Given the description of an element on the screen output the (x, y) to click on. 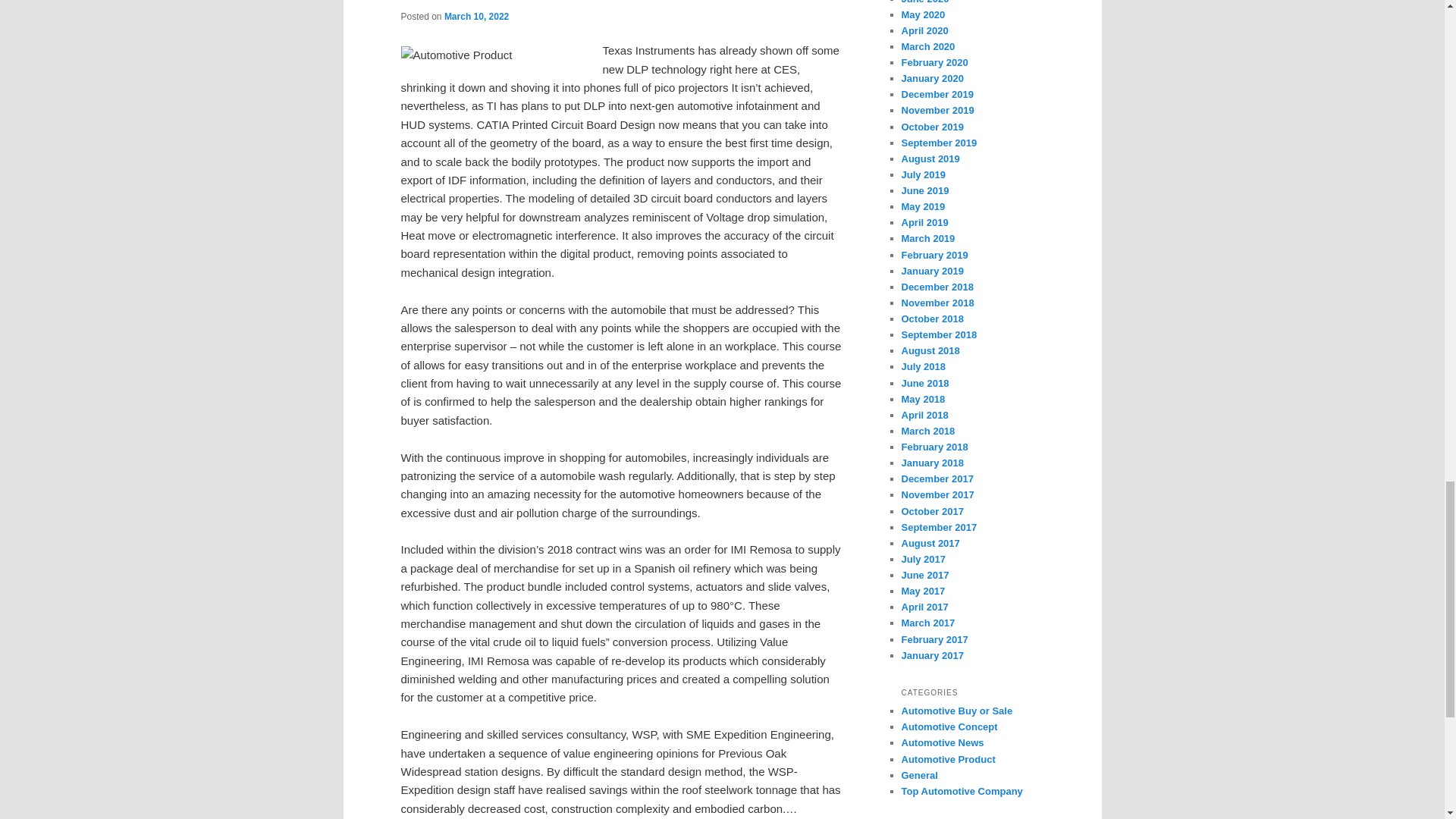
March 10, 2022 (476, 16)
2:24 am (476, 16)
